Given the description of an element on the screen output the (x, y) to click on. 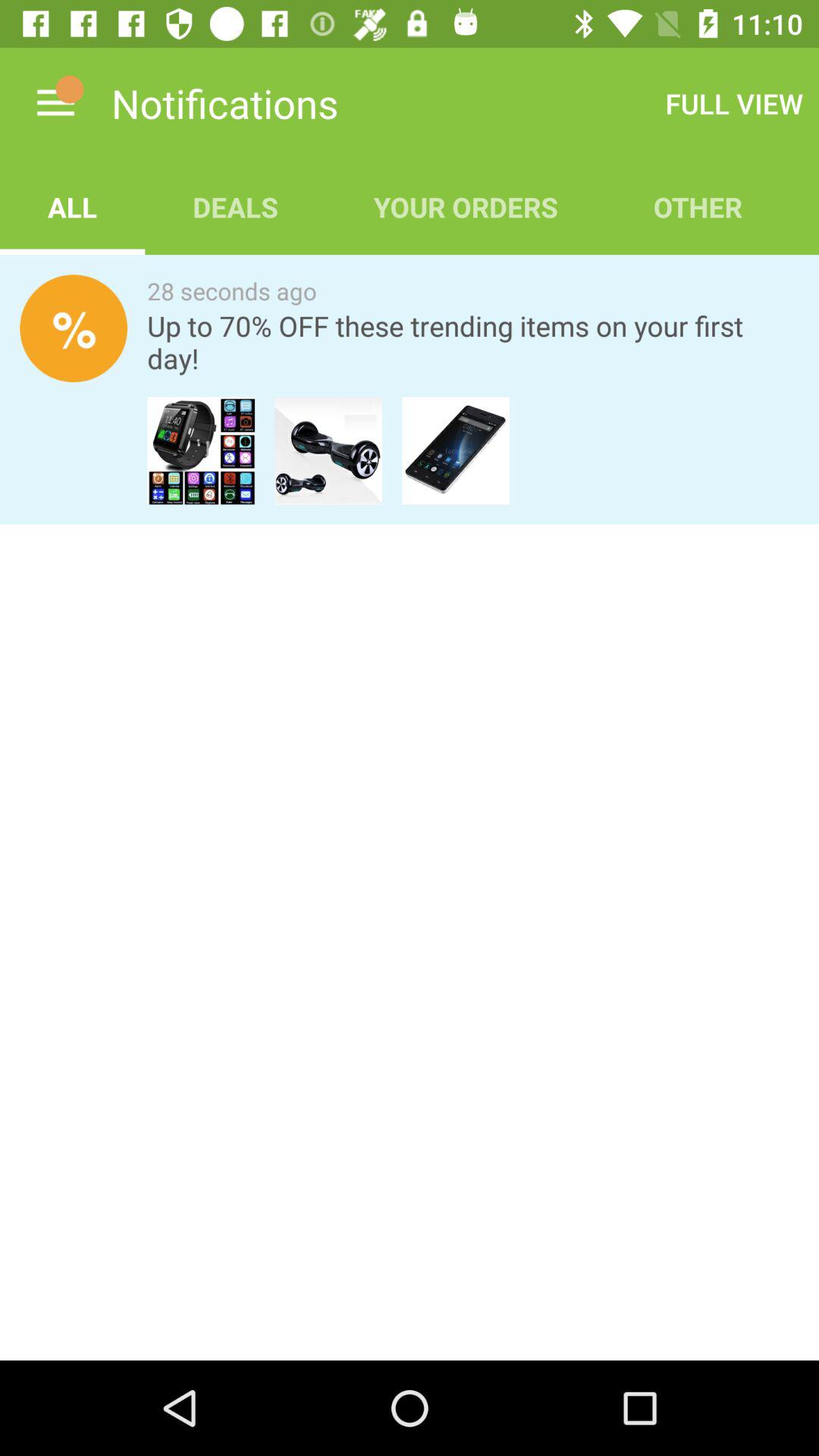
turn off the up to 70 (473, 342)
